Given the description of an element on the screen output the (x, y) to click on. 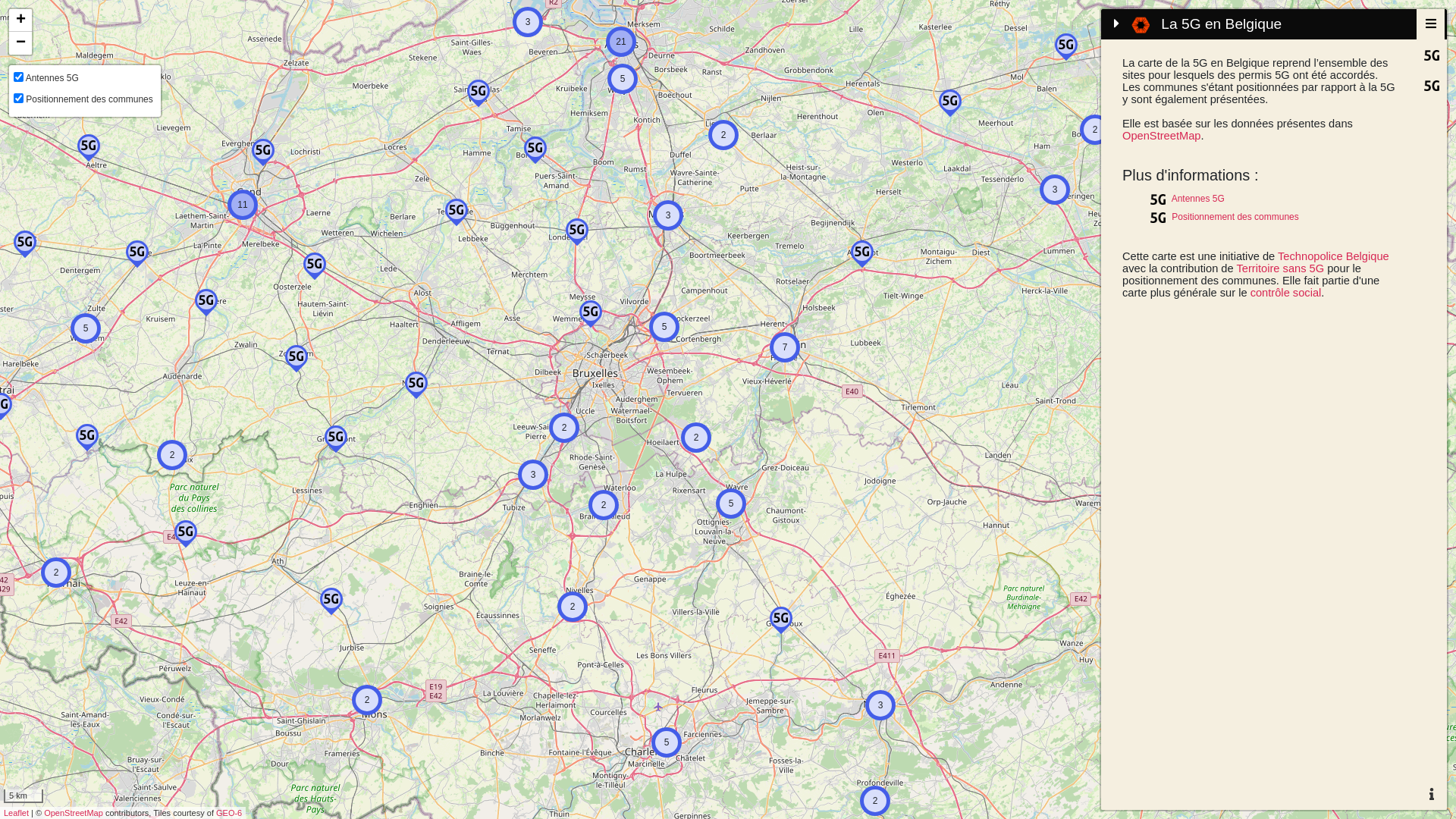
OpenStreetMap Element type: text (1161, 135)
OpenStreetMap Element type: text (73, 812)
Territoire sans 5G Element type: text (1280, 268)
Positionnement des communes Element type: text (1234, 216)
Leaflet Element type: text (15, 812)
GEO-6 Element type: text (228, 812)
Technopolice Belgique Element type: text (1333, 256)
+ Element type: text (20, 20)
Antennes 5G Element type: text (1197, 198)
